Given the description of an element on the screen output the (x, y) to click on. 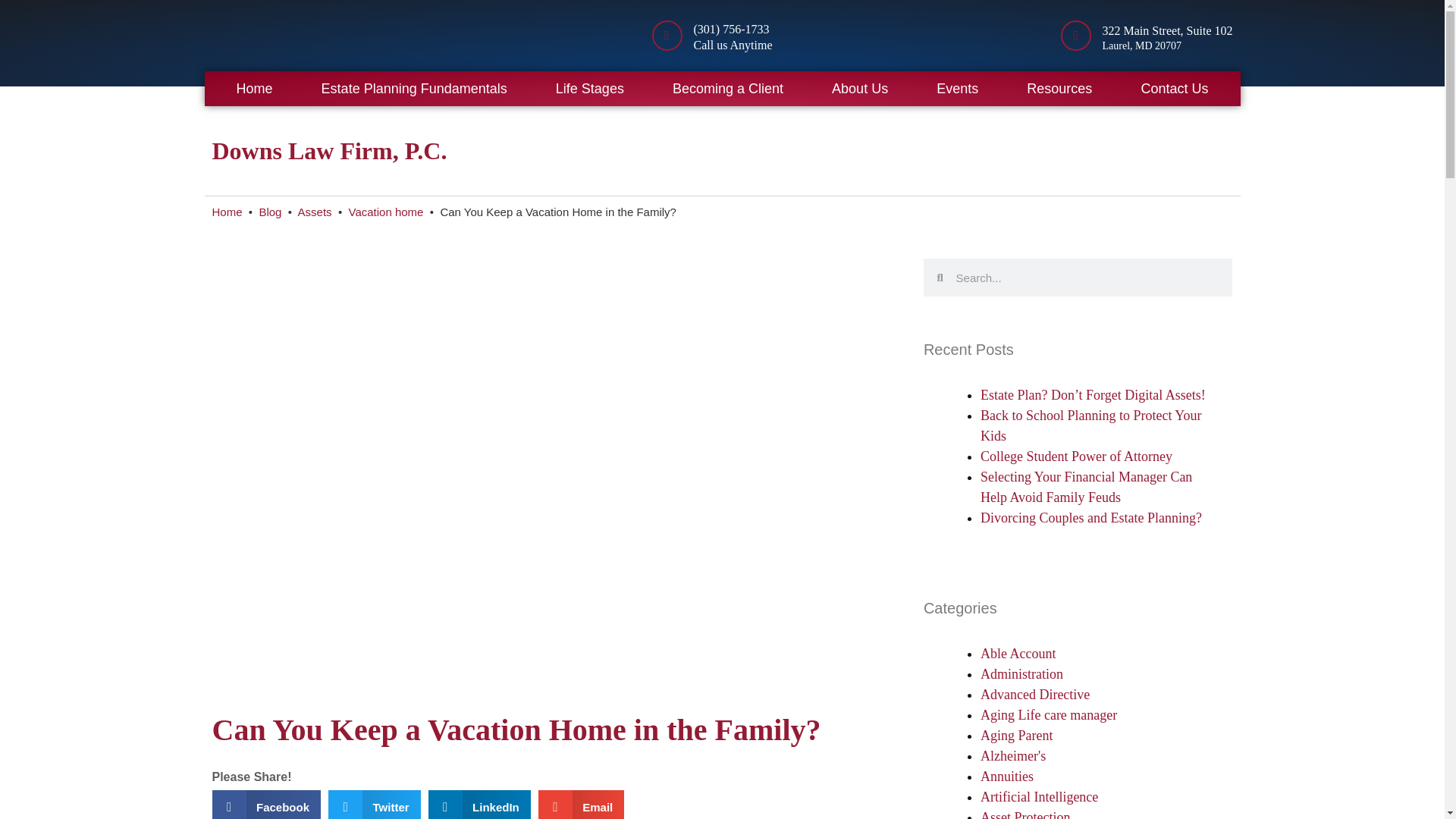
322 Main Street, Suite 102 (1167, 30)
Home (254, 88)
Estate Planning Fundamentals (414, 88)
Becoming a Client (727, 88)
Life Stages (589, 88)
About Us (860, 88)
